Given the description of an element on the screen output the (x, y) to click on. 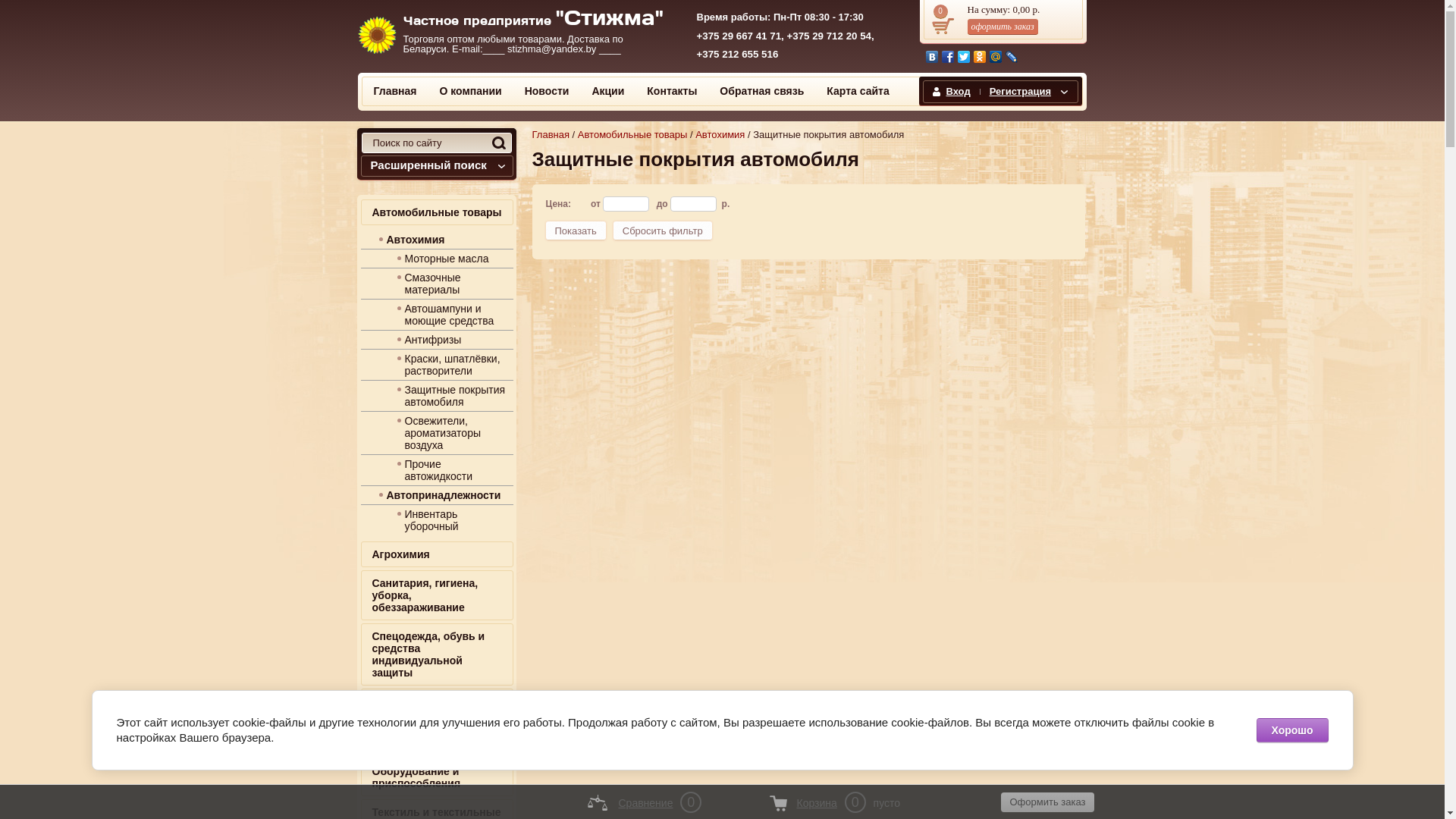
Facebook Element type: hover (948, 56)
Twitter Element type: hover (963, 56)
LiveJournal Element type: hover (1011, 56)
